Given the description of an element on the screen output the (x, y) to click on. 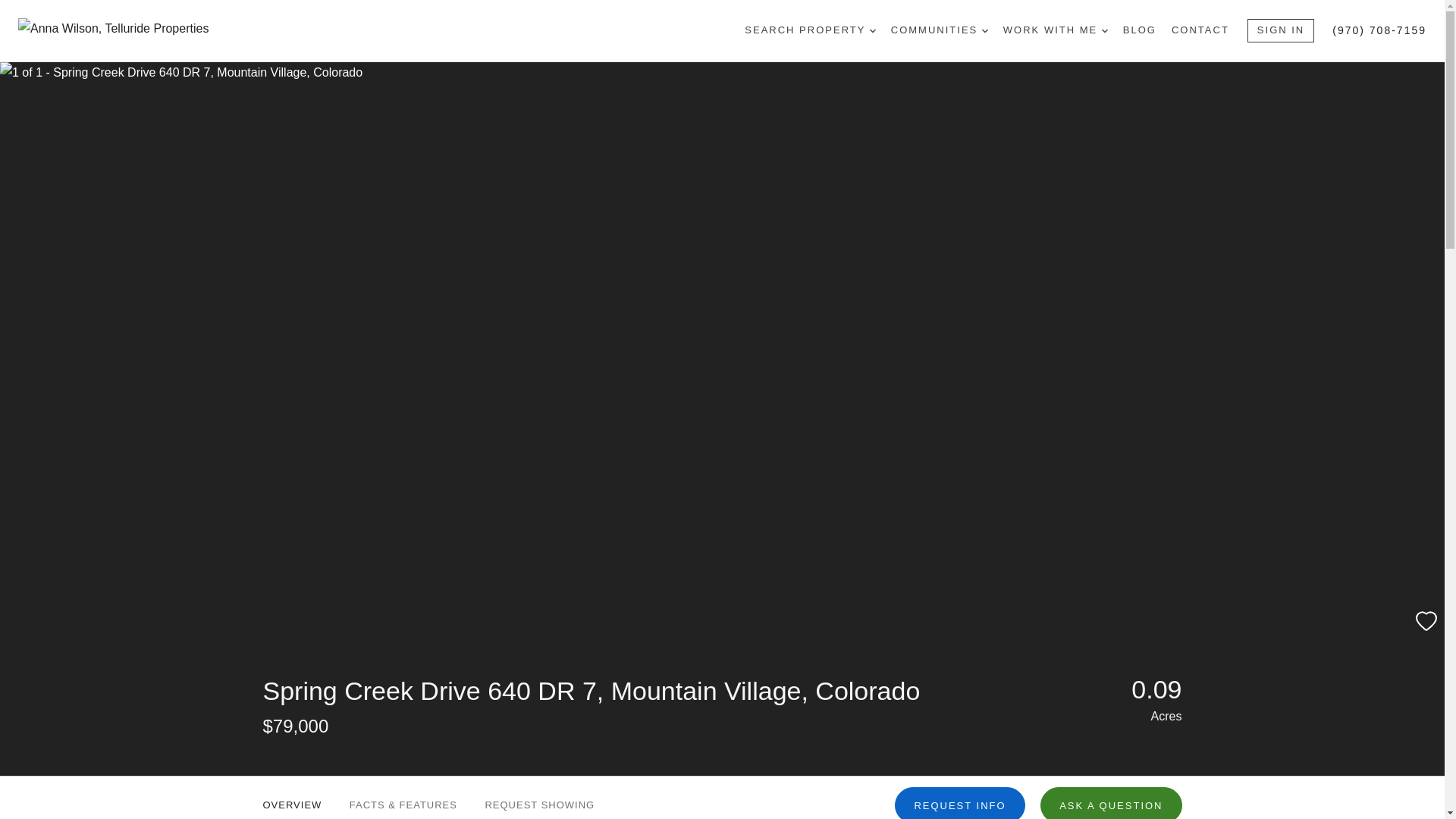
OVERVIEW (291, 797)
SIGN IN (1280, 30)
DROPDOWN ARROW (984, 30)
BLOG (1139, 30)
COMMUNITIES DROPDOWN ARROW (939, 30)
REQUEST SHOWING (539, 797)
SEARCH PROPERTY DROPDOWN ARROW (809, 30)
REQUEST INFO (960, 803)
WORK WITH ME DROPDOWN ARROW (1055, 30)
CONTACT (1200, 30)
